Given the description of an element on the screen output the (x, y) to click on. 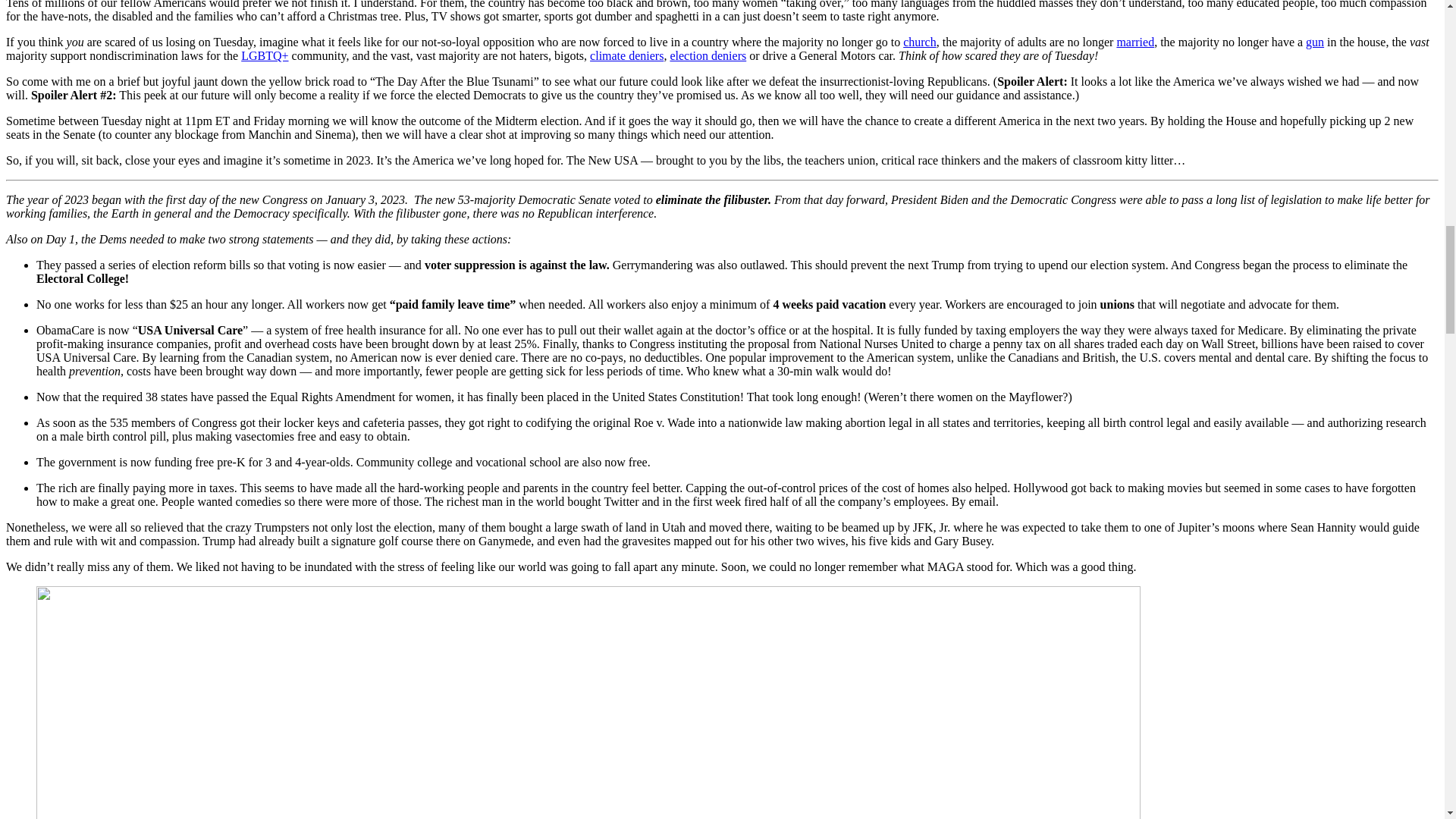
election deniers (707, 55)
gun (1314, 42)
church (919, 42)
climate deniers (626, 55)
married (1135, 42)
